Given the description of an element on the screen output the (x, y) to click on. 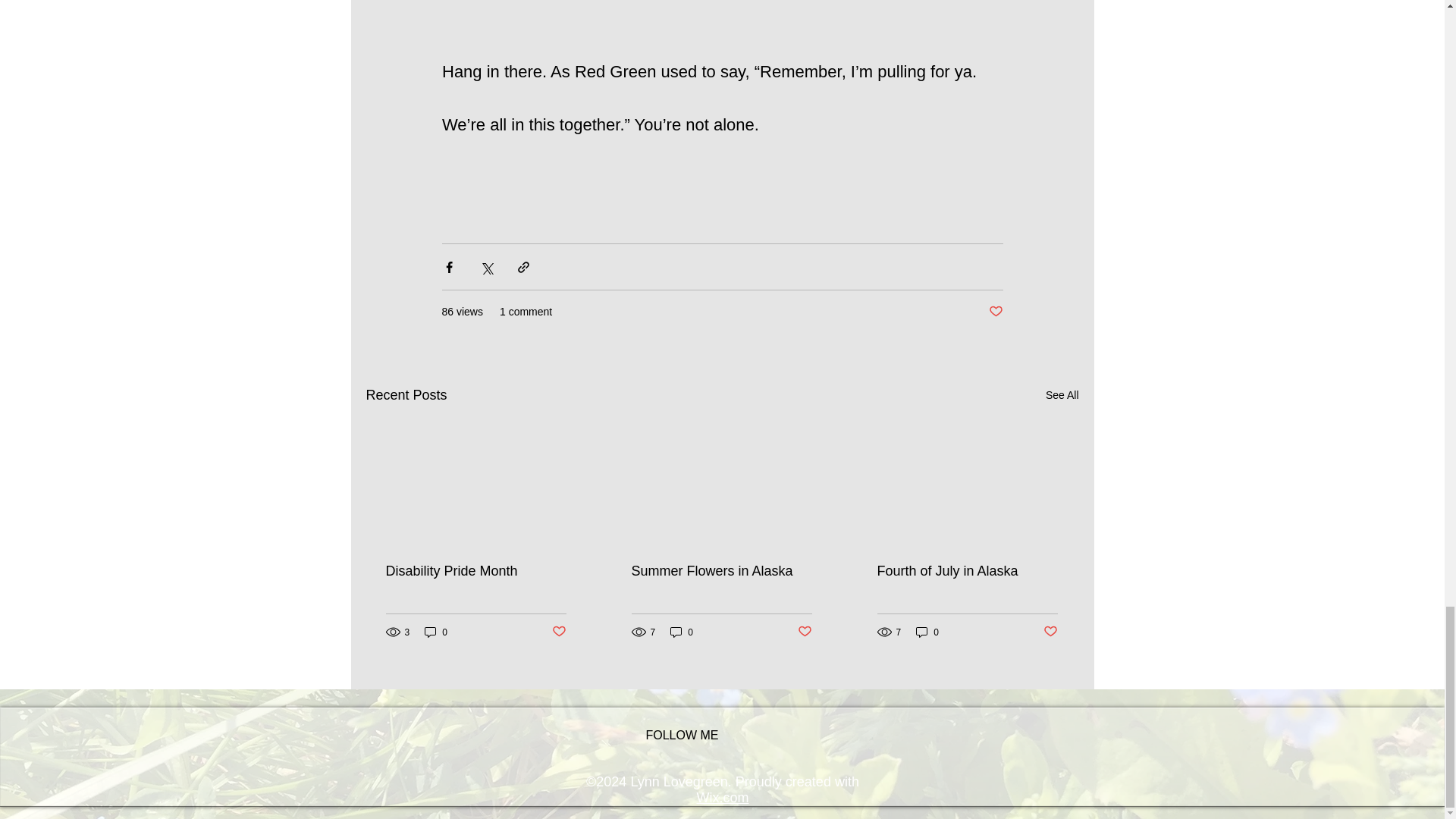
See All (1061, 395)
Post not marked as liked (558, 631)
0 (681, 631)
Wix.com (721, 797)
Post not marked as liked (1050, 631)
0 (435, 631)
Disability Pride Month (475, 571)
Post not marked as liked (804, 631)
Fourth of July in Alaska (966, 571)
0 (927, 631)
Summer Flowers in Alaska (720, 571)
Post not marked as liked (995, 311)
